Given the description of an element on the screen output the (x, y) to click on. 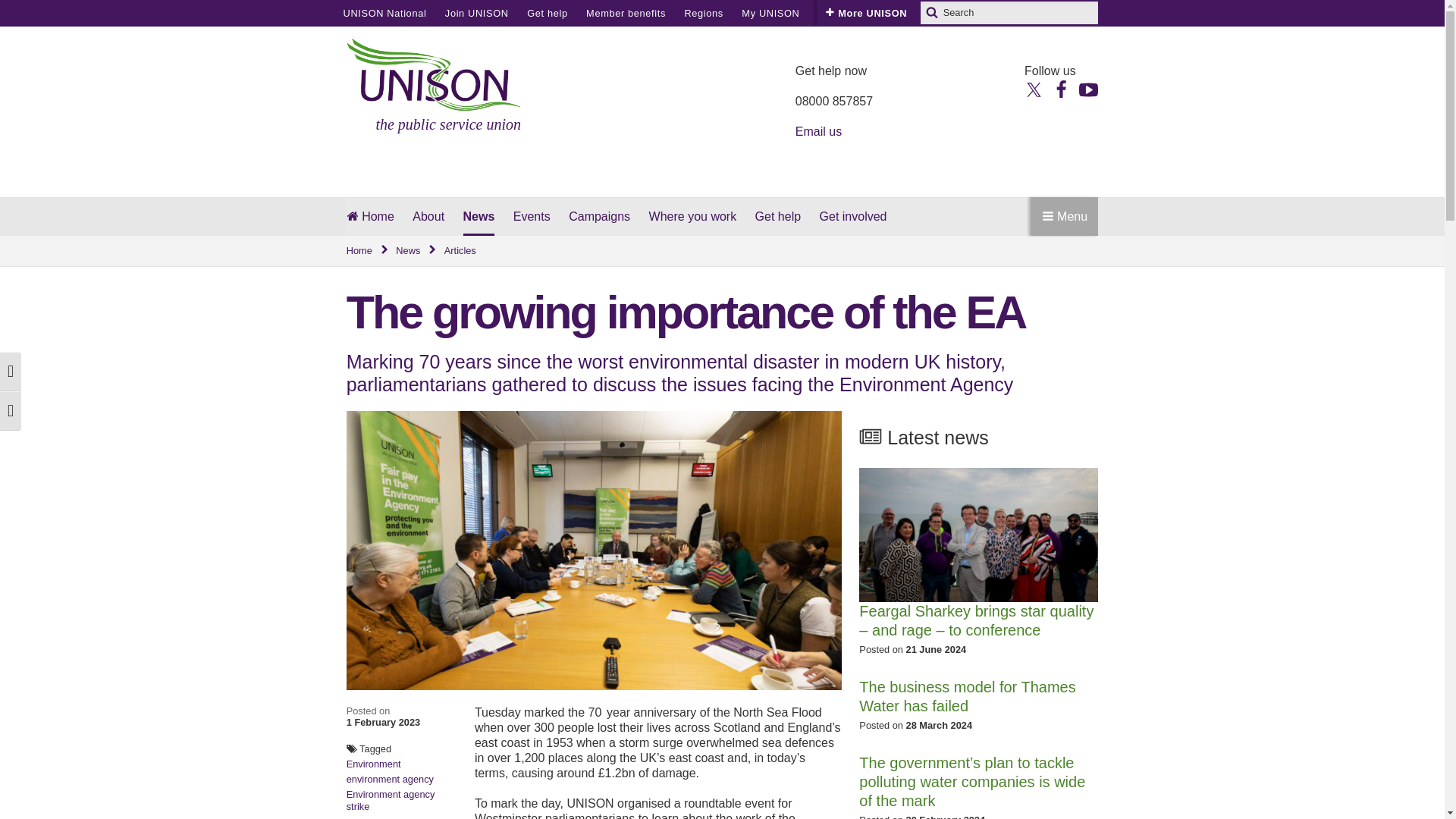
Search (931, 12)
Join UNISON (476, 13)
Facebook (1060, 88)
Member benefits (625, 13)
News (417, 250)
the public service union (433, 85)
Other sites (844, 13)
